Given the description of an element on the screen output the (x, y) to click on. 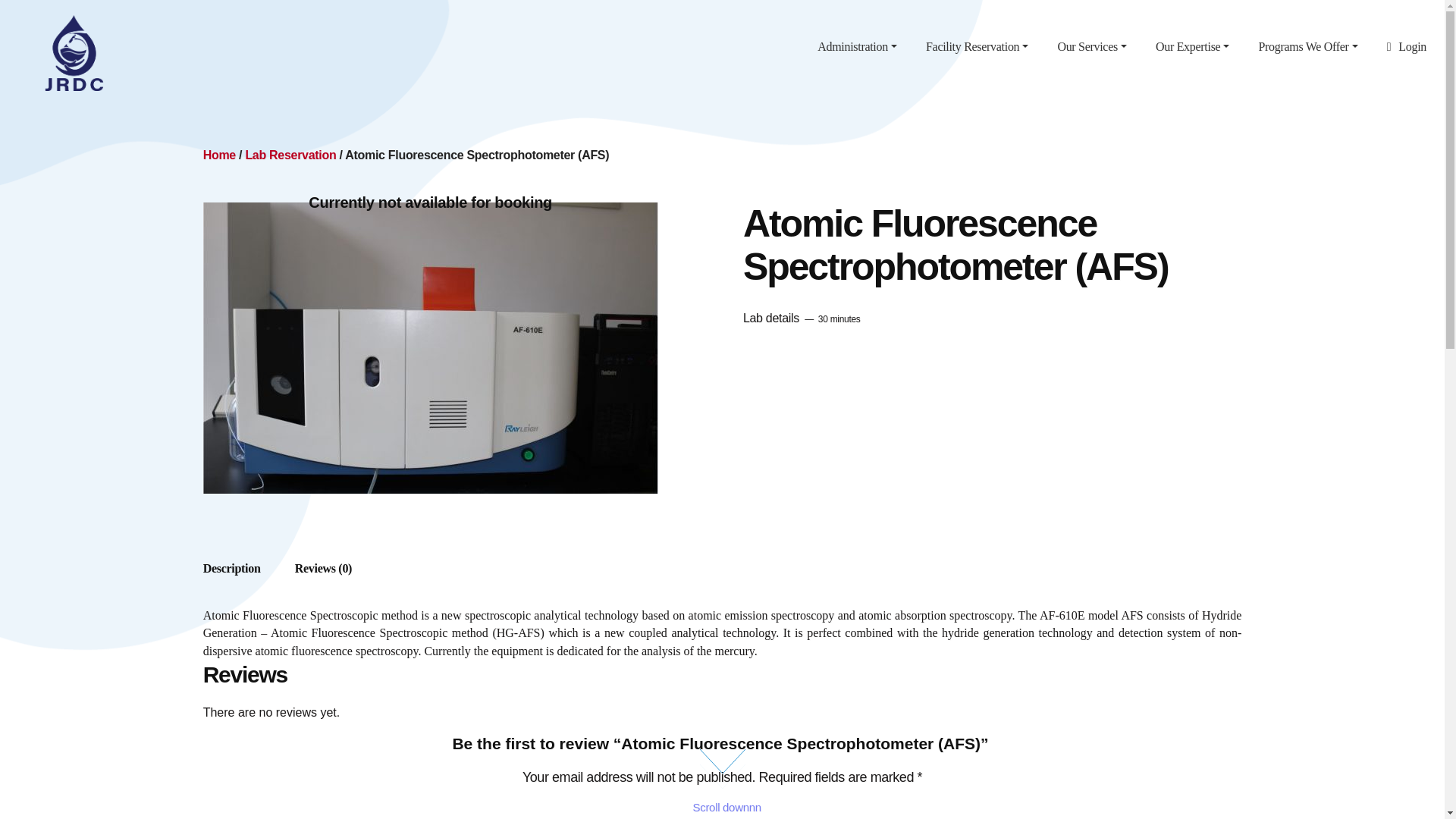
Administration (856, 46)
Our Expertise (1192, 46)
AFS (430, 347)
Programs We Offer (1307, 46)
Login (1406, 46)
Facility Reservation (976, 46)
Our Services (1091, 46)
